Given the description of an element on the screen output the (x, y) to click on. 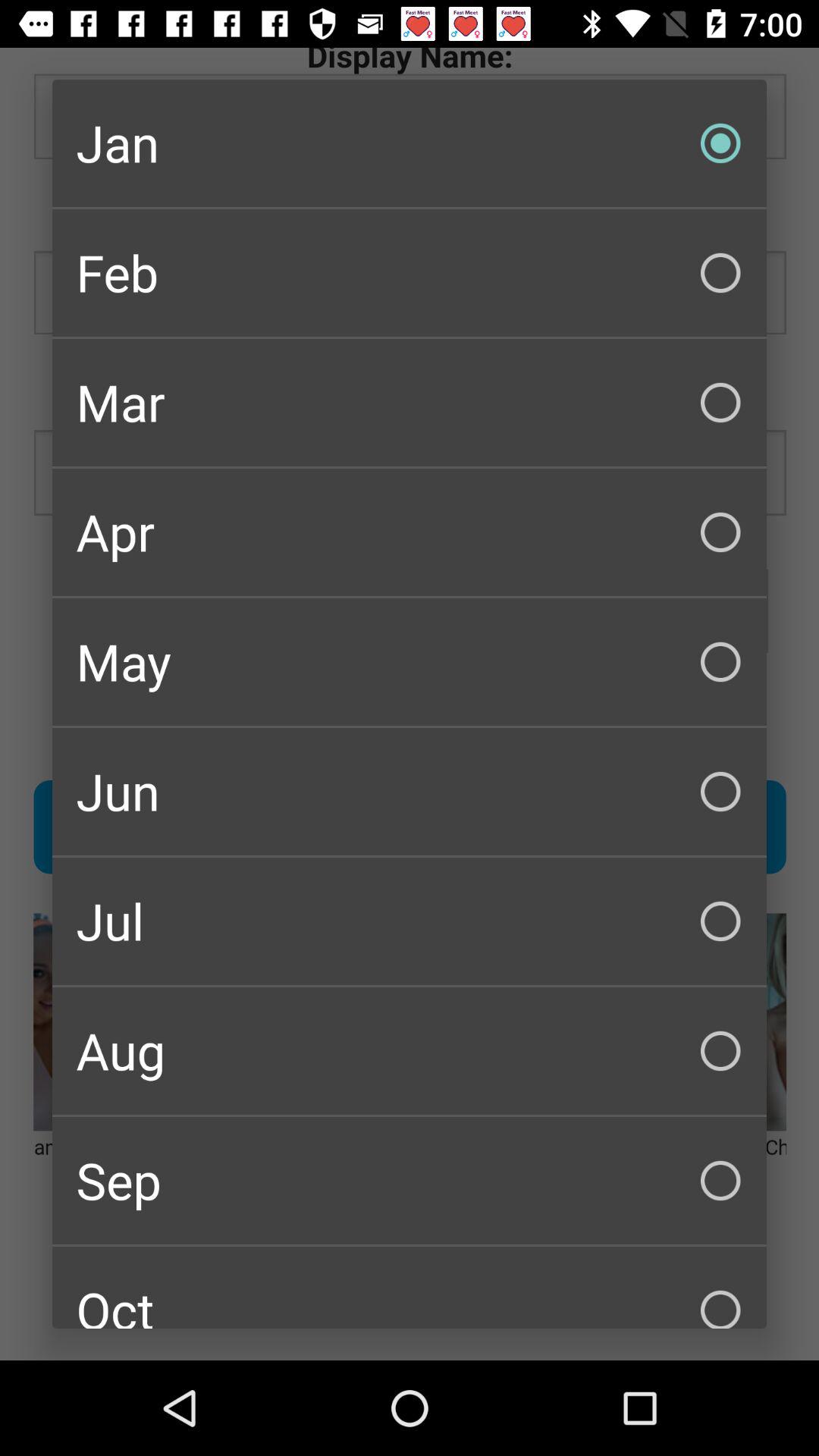
launch the item above the feb checkbox (409, 143)
